Given the description of an element on the screen output the (x, y) to click on. 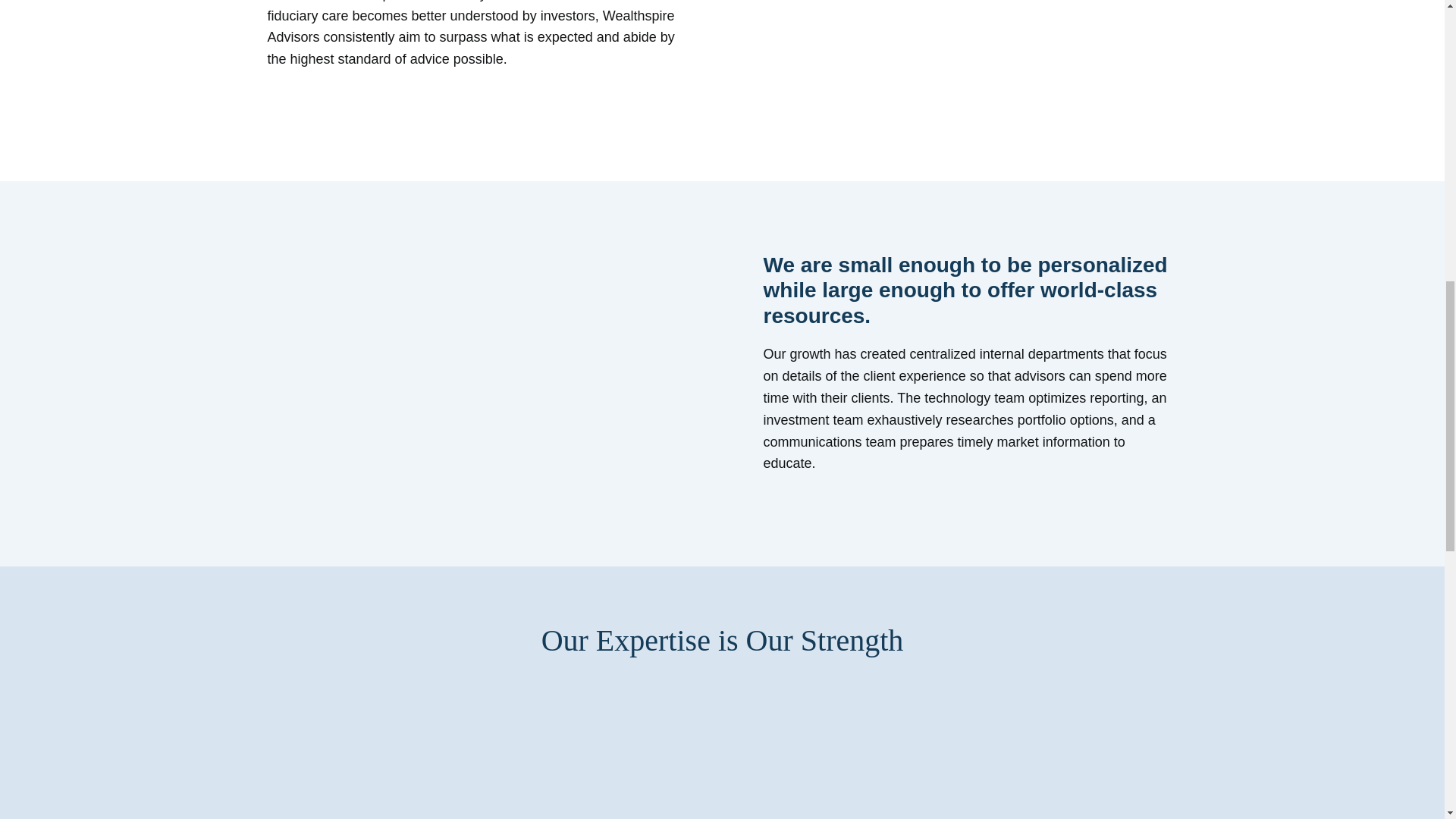
recognition-600x390 (896, 755)
Advisor in Office (949, 76)
Executive-Compensation (547, 755)
